Given the description of an element on the screen output the (x, y) to click on. 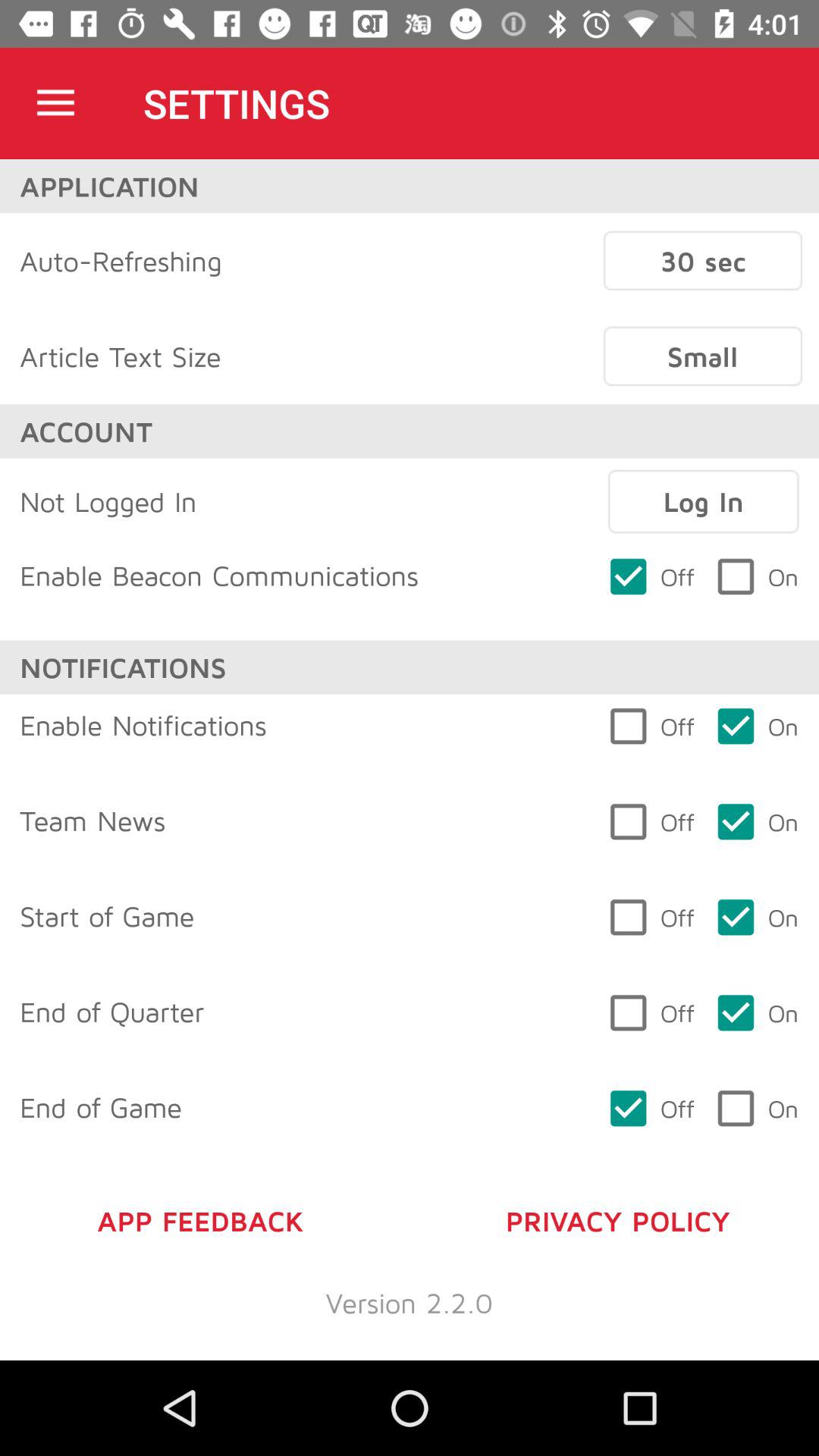
open icon above the application icon (55, 103)
